Given the description of an element on the screen output the (x, y) to click on. 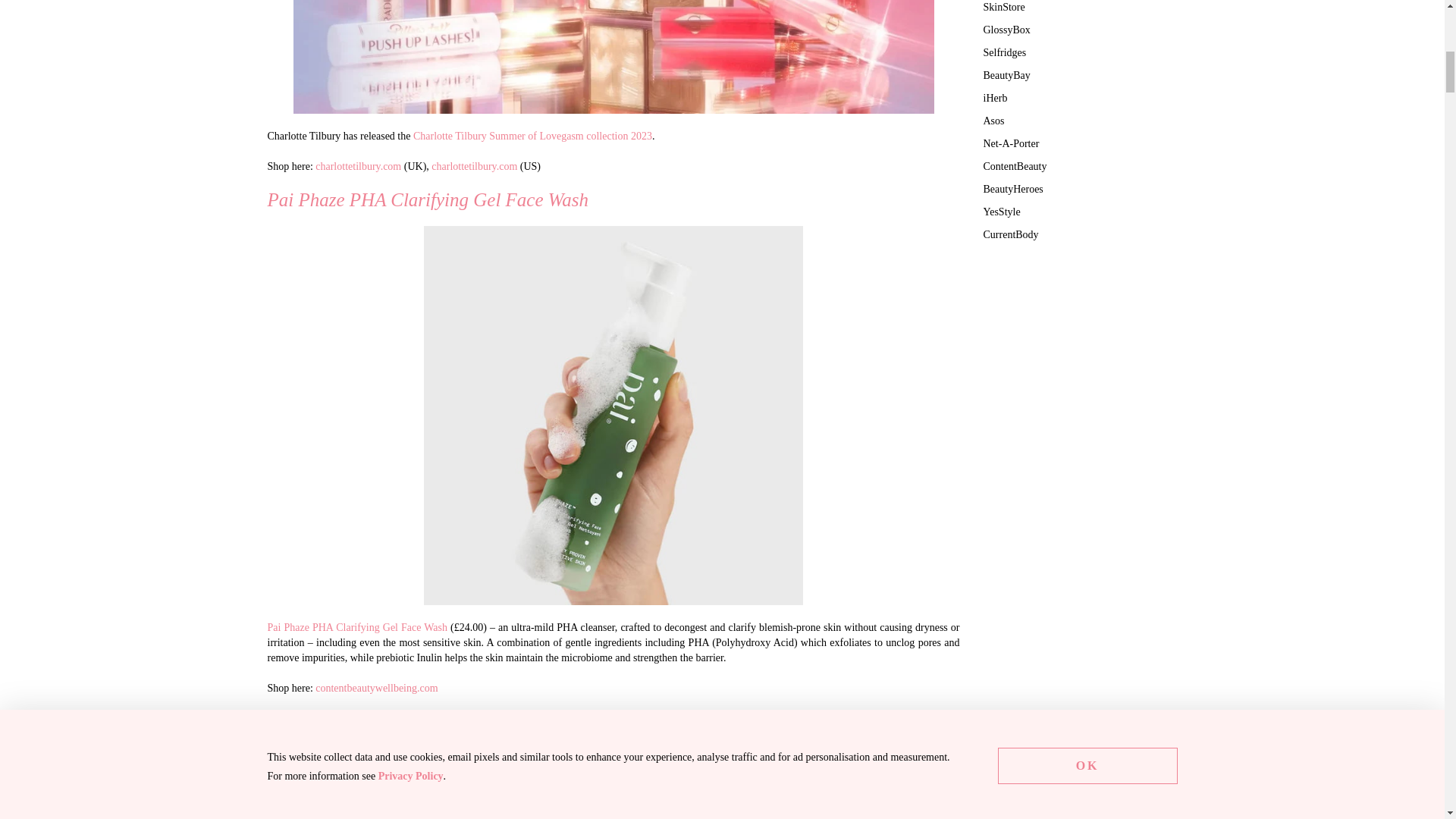
New launches from Murad (612, 783)
contentbeautywellbeing.com (376, 687)
Pai Phaze PHA Clarifying Gel Face Wash (356, 627)
charlottetilbury.com (473, 165)
charlottetilbury.com (358, 165)
